Given the description of an element on the screen output the (x, y) to click on. 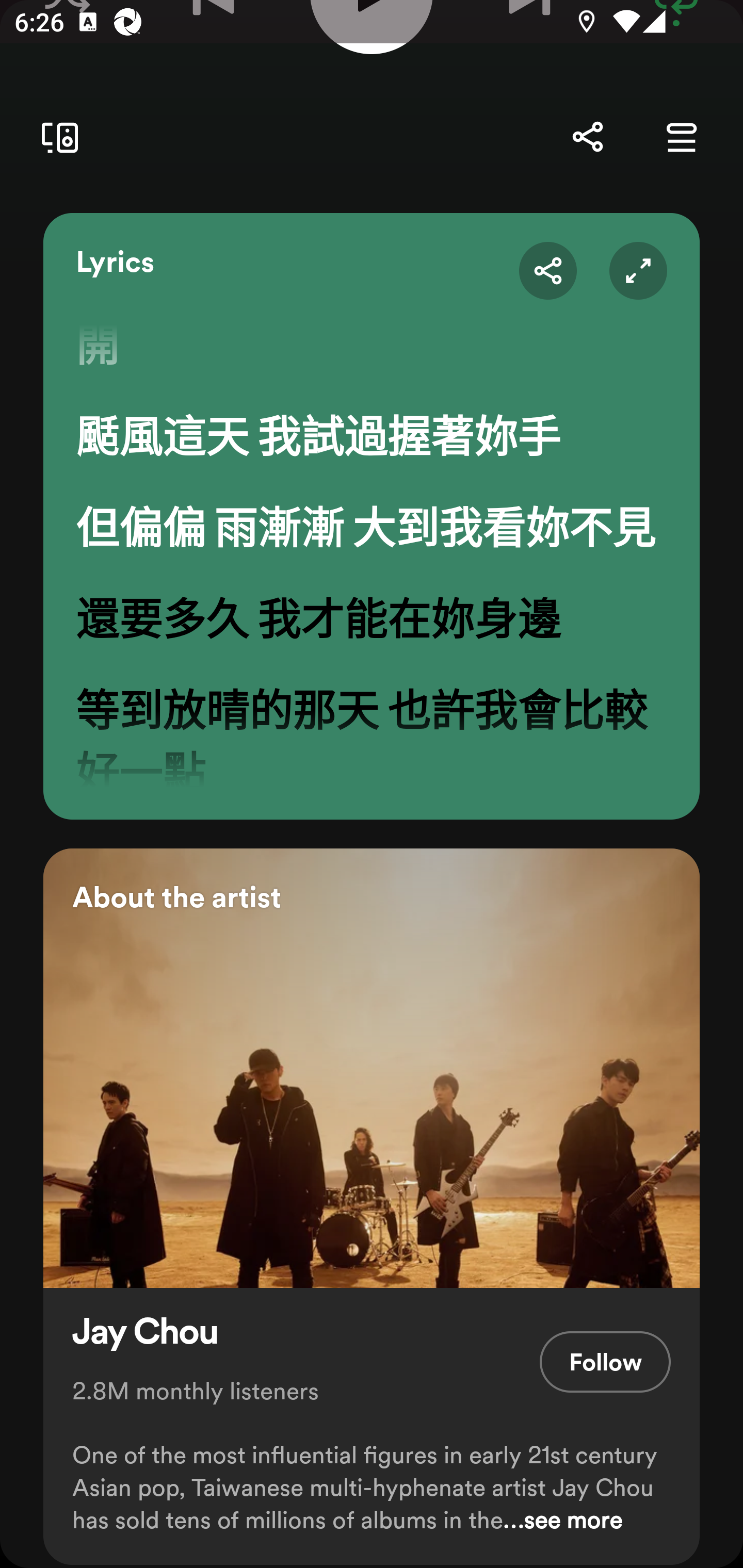
Share (587, 137)
Go to Queue (681, 137)
Connect to a device. Opens the devices menu (55, 136)
Share (547, 270)
Expand (638, 270)
Follow Follow this Artist (604, 1361)
